Given the description of an element on the screen output the (x, y) to click on. 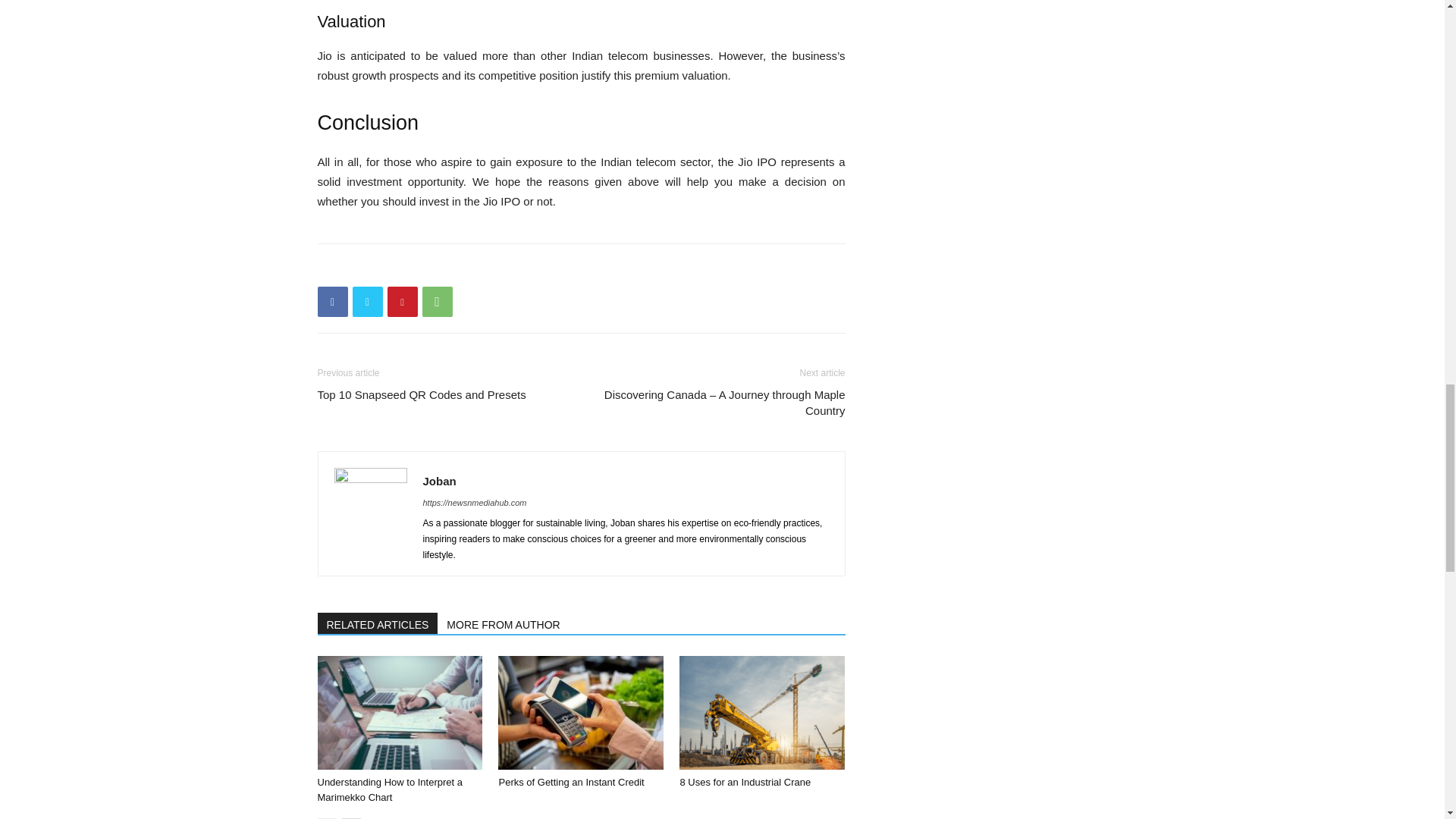
Facebook (332, 301)
bottomFacebookLike (430, 268)
